Given the description of an element on the screen output the (x, y) to click on. 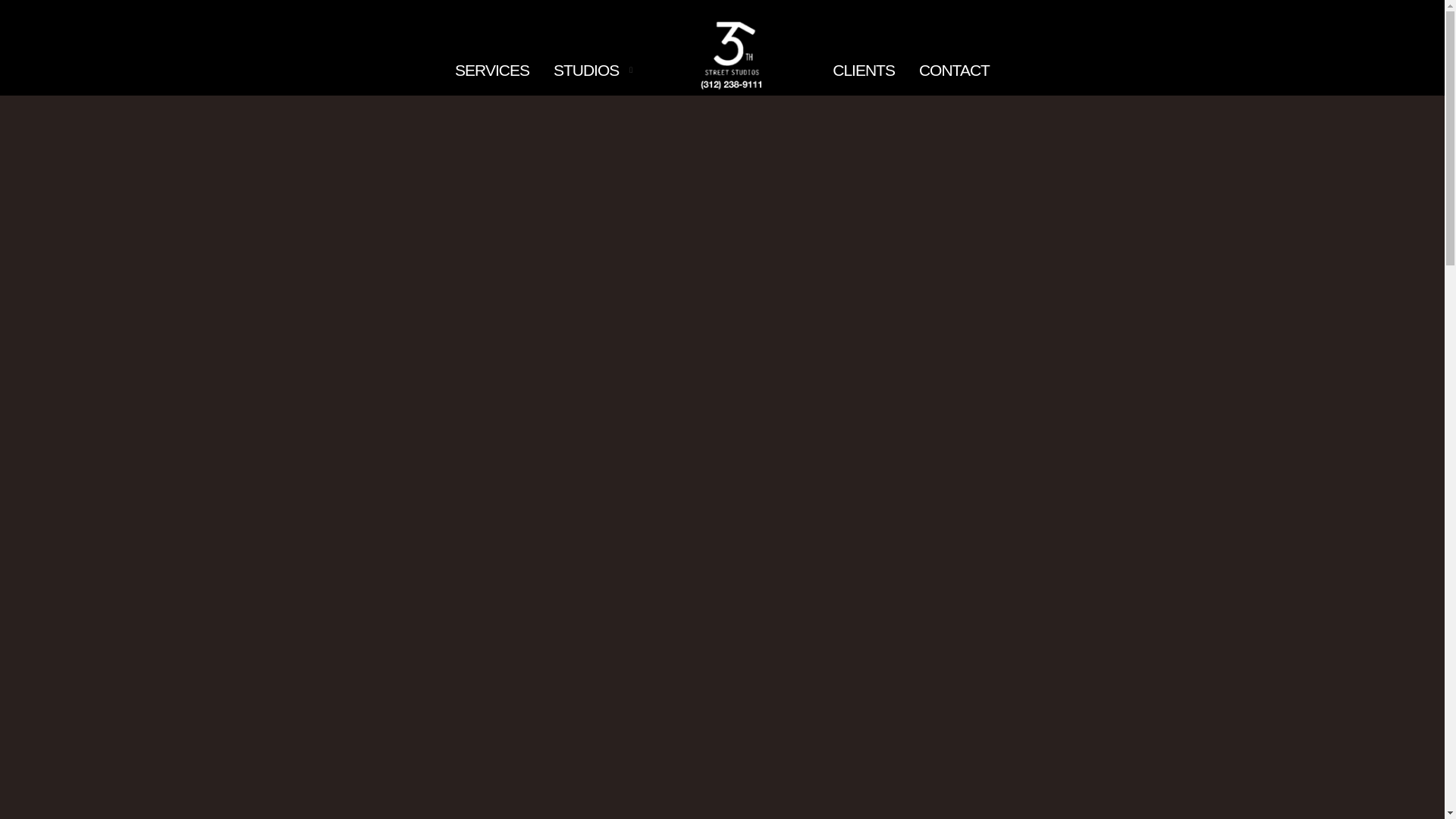
SERVICES Element type: text (492, 70)
Home Element type: hover (732, 52)
CLIENTS Element type: text (863, 70)
STUDIOS Element type: text (585, 70)
CONTACT Element type: text (954, 70)
